Given the description of an element on the screen output the (x, y) to click on. 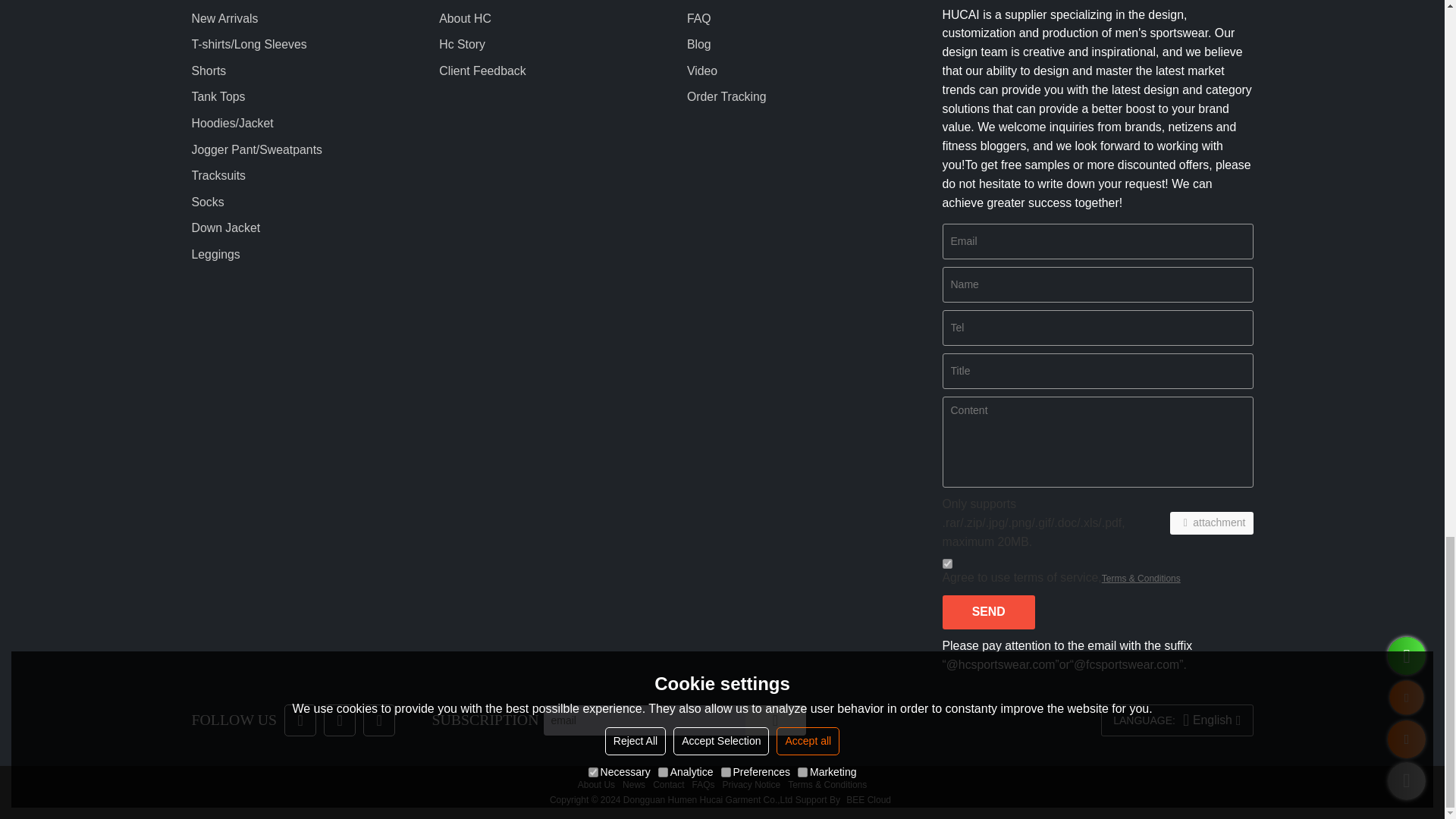
on (947, 563)
